Given the description of an element on the screen output the (x, y) to click on. 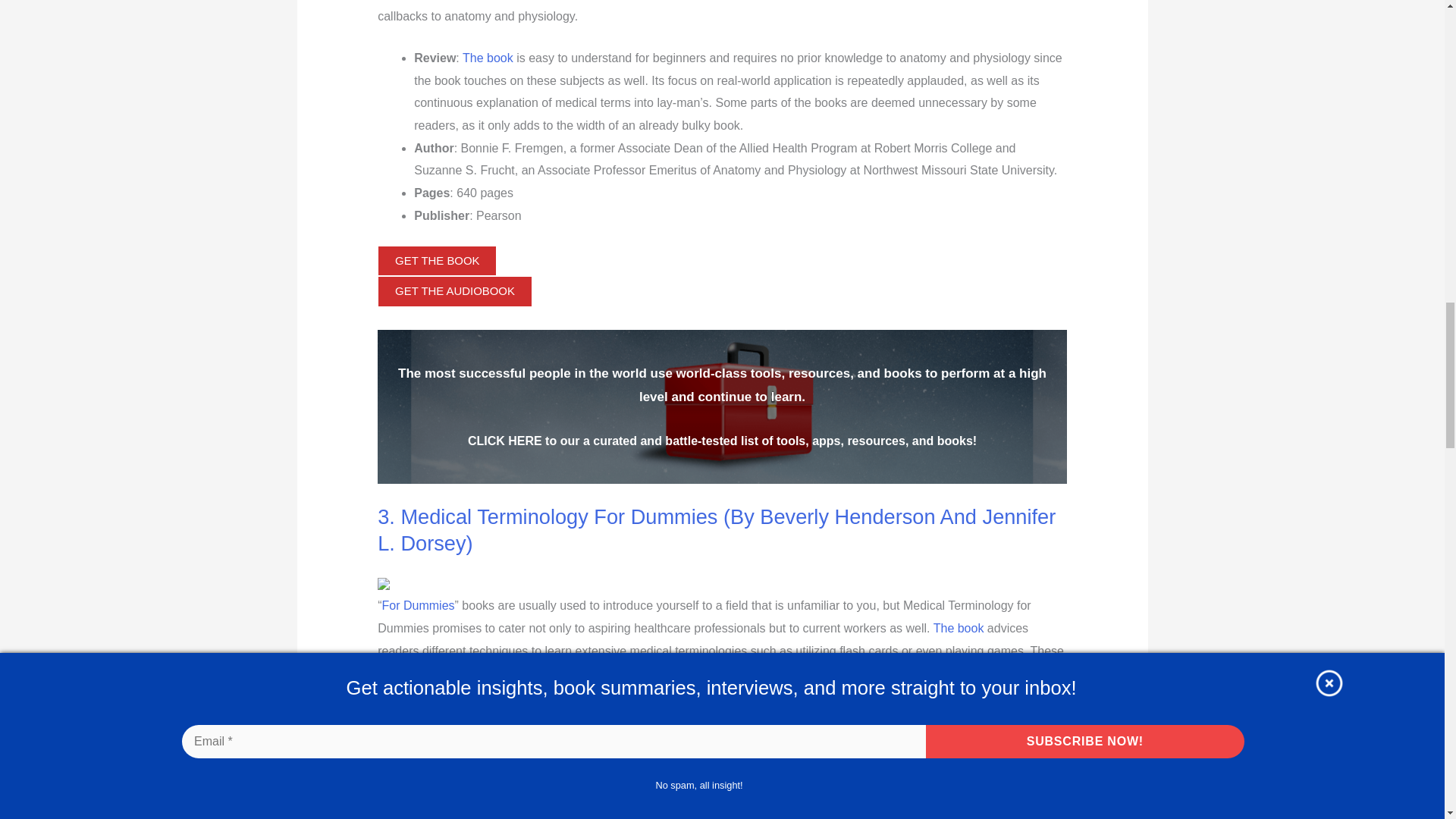
The book (958, 627)
The book (488, 57)
For Dummies (417, 604)
The book (488, 782)
GET THE BOOK (436, 260)
GET THE AUDIOBOOK (454, 291)
